Given the description of an element on the screen output the (x, y) to click on. 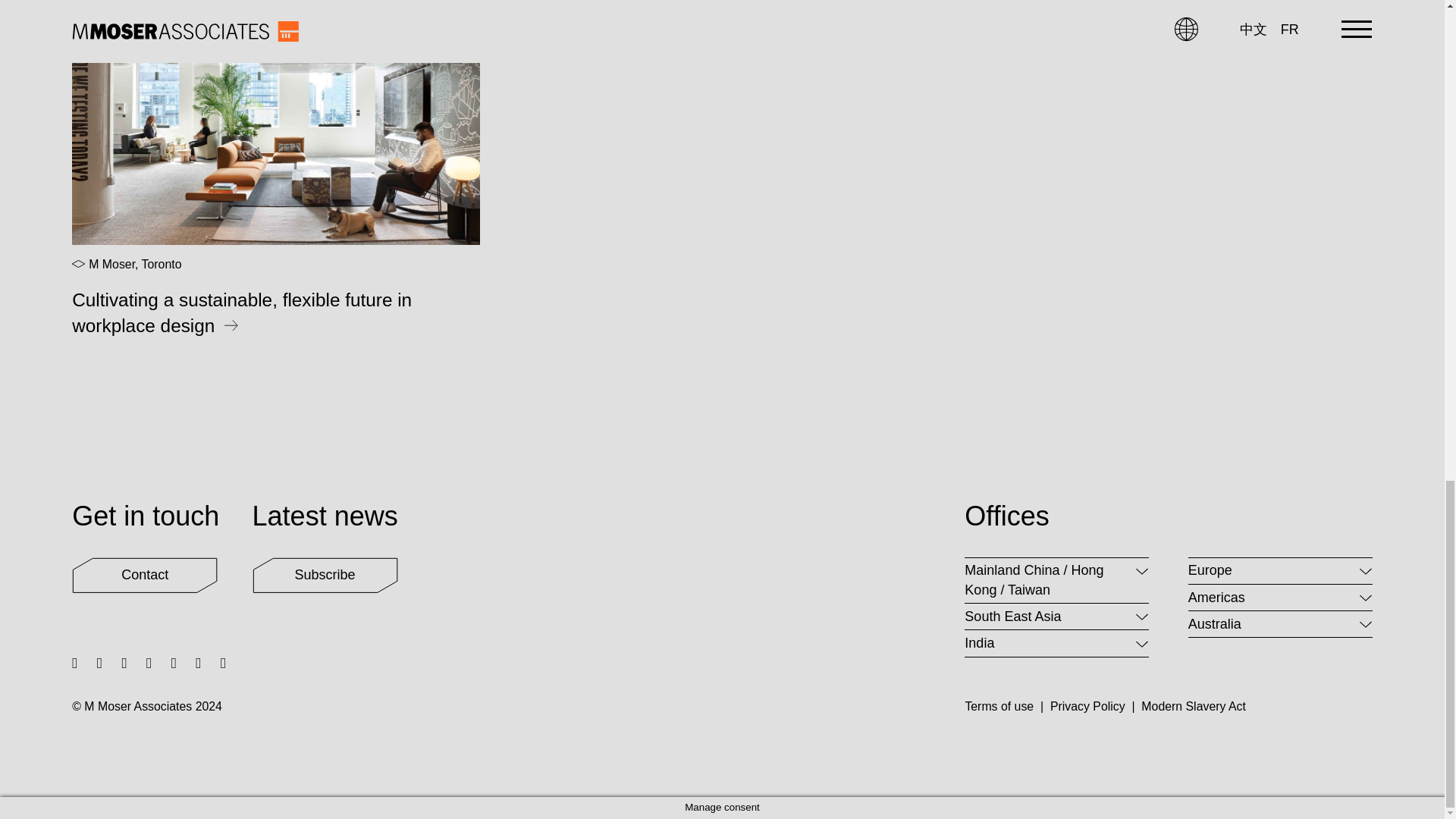
South East Asia (1055, 615)
Subscribe (324, 574)
Contact (143, 574)
